Given the description of an element on the screen output the (x, y) to click on. 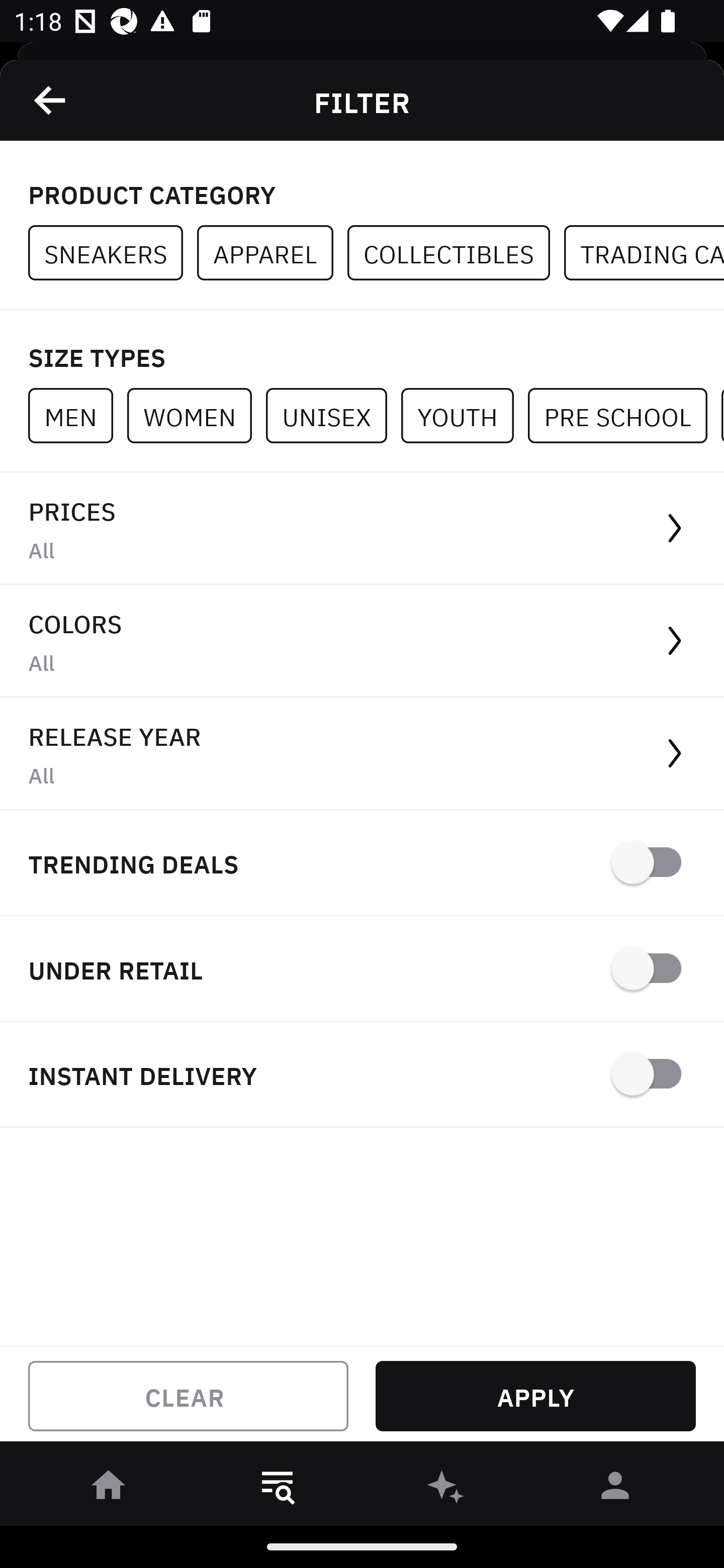
 (50, 100)
SNEAKERS (112, 252)
APPAREL (271, 252)
COLLECTIBLES (455, 252)
TRADING CARDS (643, 252)
MEN (77, 415)
WOMEN (196, 415)
UNISEX (333, 415)
YOUTH (464, 415)
PRE SCHOOL (624, 415)
PRICES All (362, 528)
COLORS All (362, 640)
RELEASE YEAR All (362, 753)
TRENDING DEALS (362, 863)
UNDER RETAIL (362, 969)
INSTANT DELIVERY (362, 1075)
CLEAR  (188, 1396)
APPLY (535, 1396)
󰋜 (108, 1488)
󱎸 (277, 1488)
󰫢 (446, 1488)
󰀄 (615, 1488)
